Given the description of an element on the screen output the (x, y) to click on. 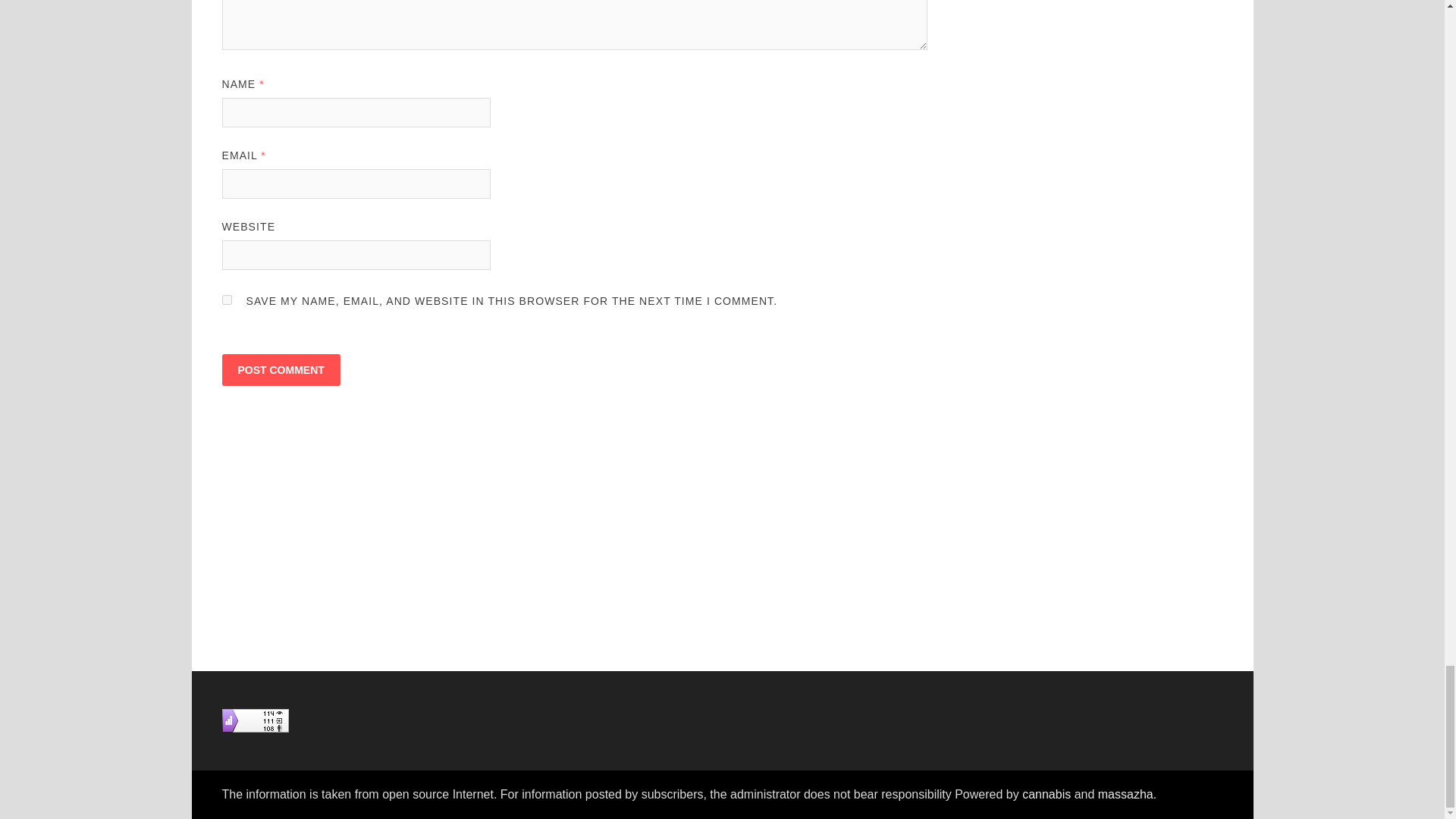
Post Comment (280, 369)
Post Comment (280, 369)
yes (226, 299)
